Given the description of an element on the screen output the (x, y) to click on. 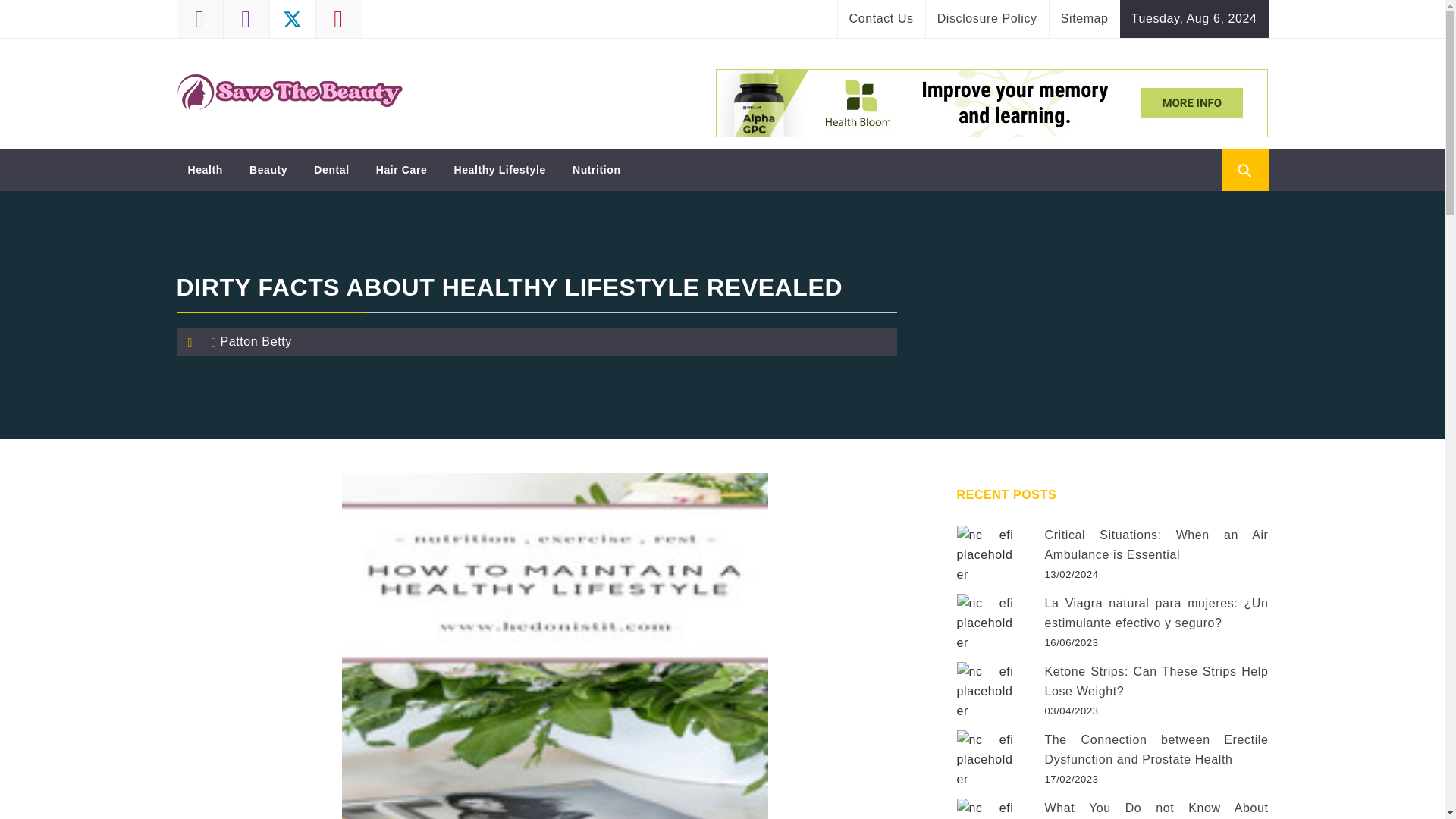
Hair Care (402, 169)
Dental (330, 169)
Sitemap (1084, 18)
Ketone Strips: Can These Strips Help Lose Weight? (984, 690)
Contact Us (881, 18)
Critical Situations: When an Air Ambulance is Essential (984, 553)
Critical Situations: When an Air Ambulance is Essential (1156, 544)
Patton Betty (255, 341)
